Given the description of an element on the screen output the (x, y) to click on. 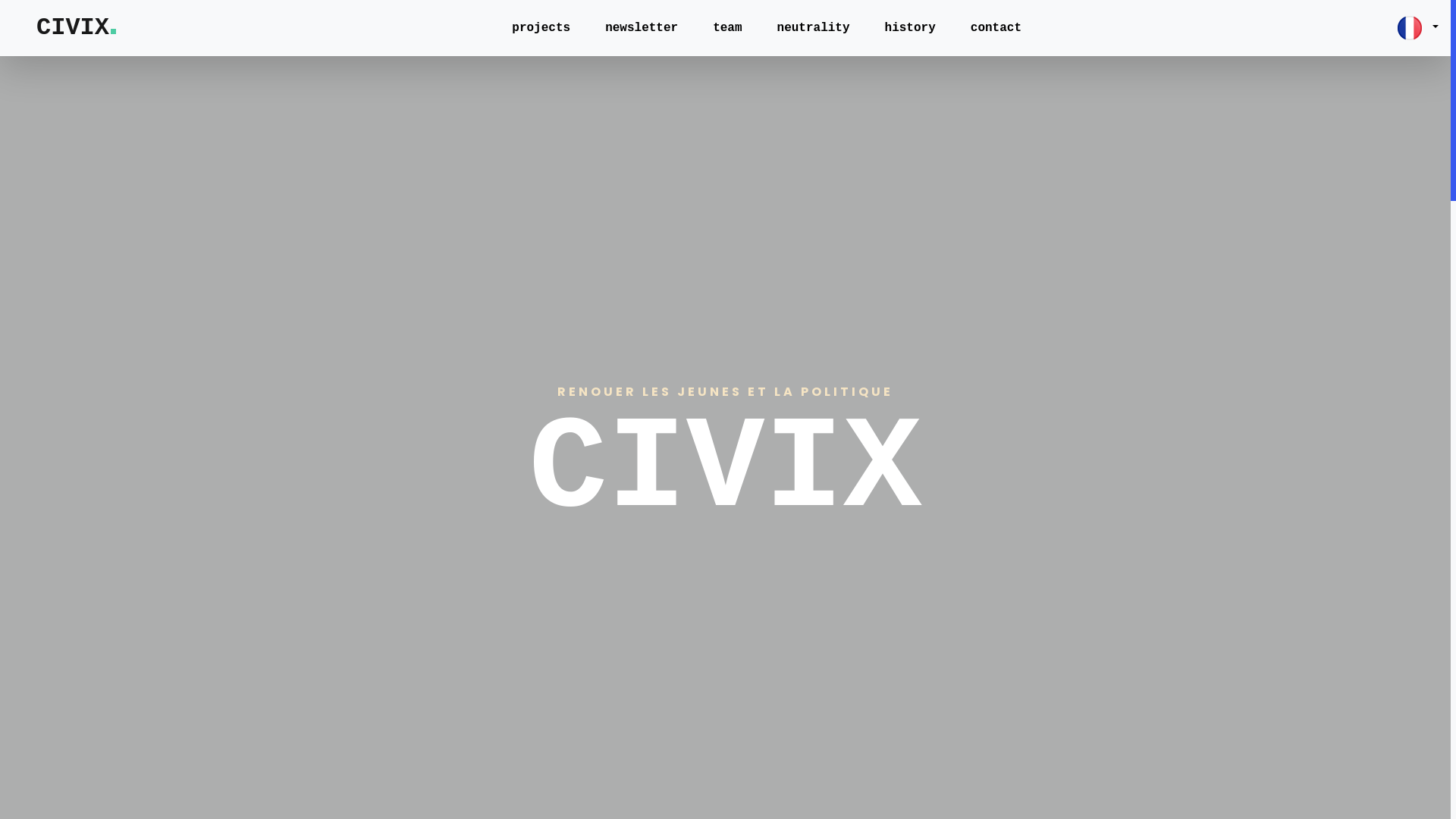
newsletter Element type: text (641, 27)
history Element type: text (909, 27)
contact Element type: text (995, 27)
CIVIX Element type: text (76, 28)
projects Element type: text (540, 27)
team Element type: text (726, 27)
neutrality Element type: text (813, 27)
